Given the description of an element on the screen output the (x, y) to click on. 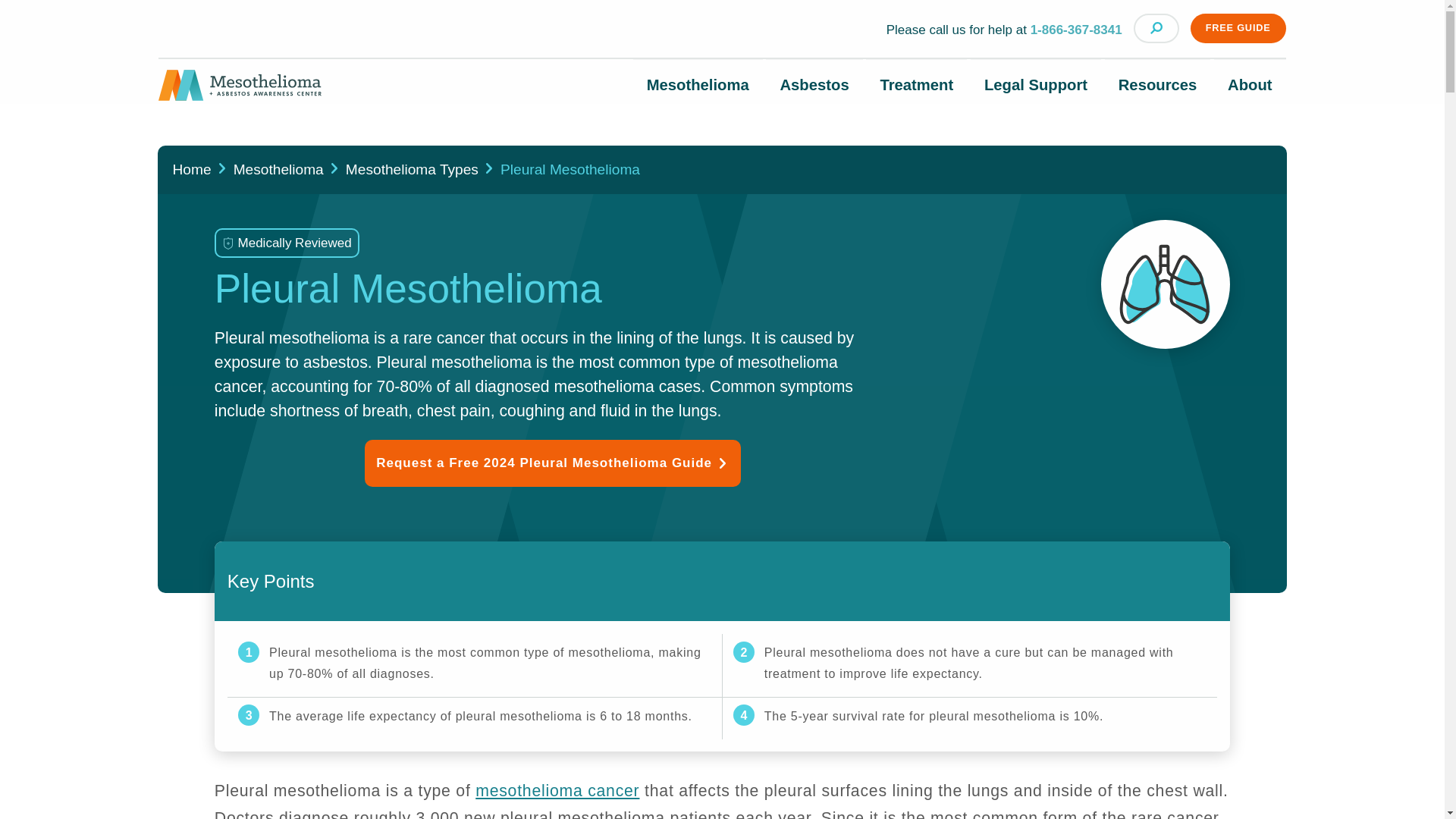
Mesothelioma (697, 84)
Treatment (916, 84)
Home (239, 90)
1-866-367-8341 (1076, 29)
Asbestos (813, 84)
Legal Support (1035, 84)
Resources (1157, 84)
FREE GUIDE (1238, 28)
